Given the description of an element on the screen output the (x, y) to click on. 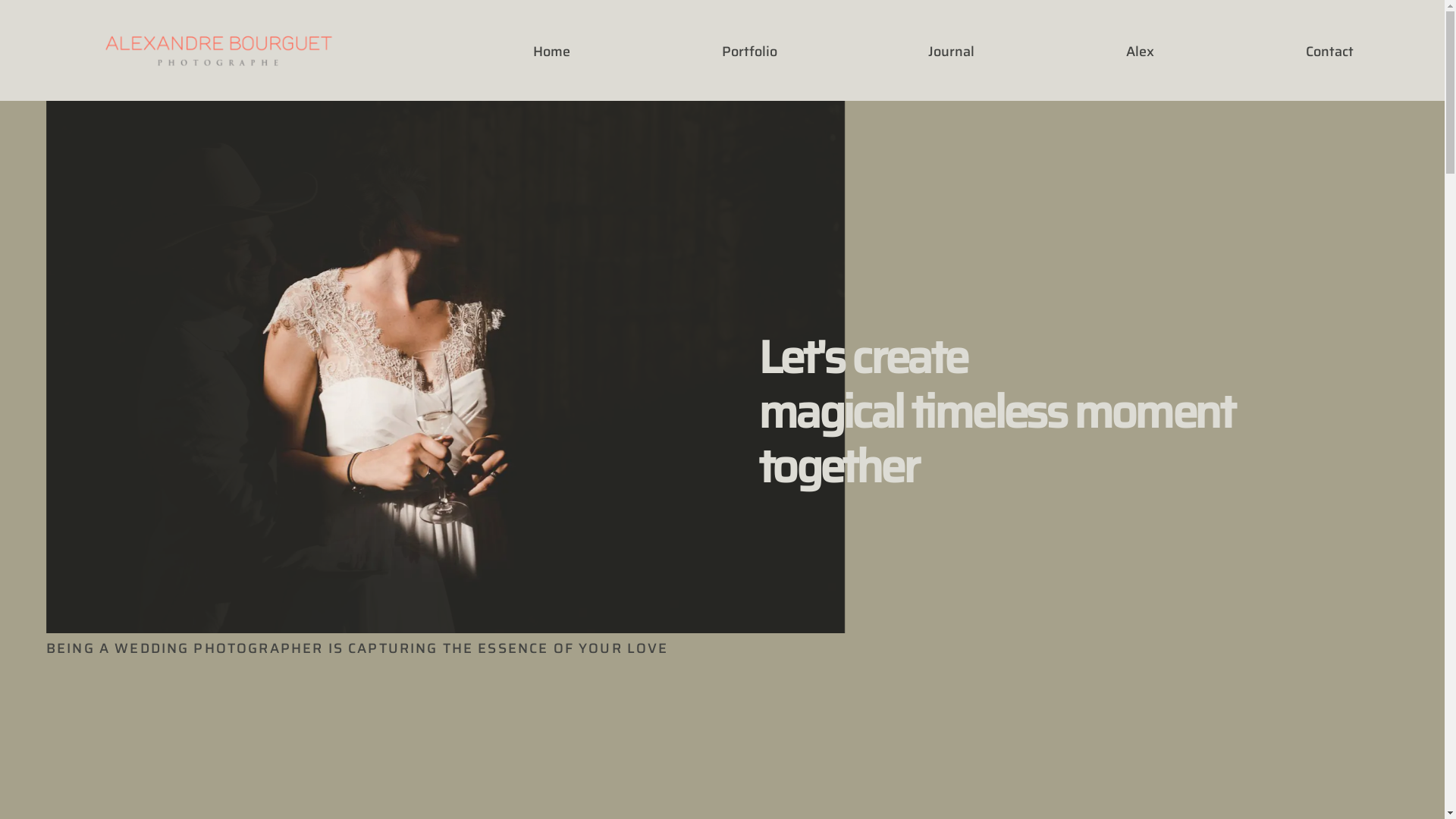
Portfolio Element type: text (749, 51)
Alex Element type: text (1140, 51)
Contact Element type: text (1329, 51)
Journal Element type: text (951, 51)
Home Element type: text (551, 51)
